Given the description of an element on the screen output the (x, y) to click on. 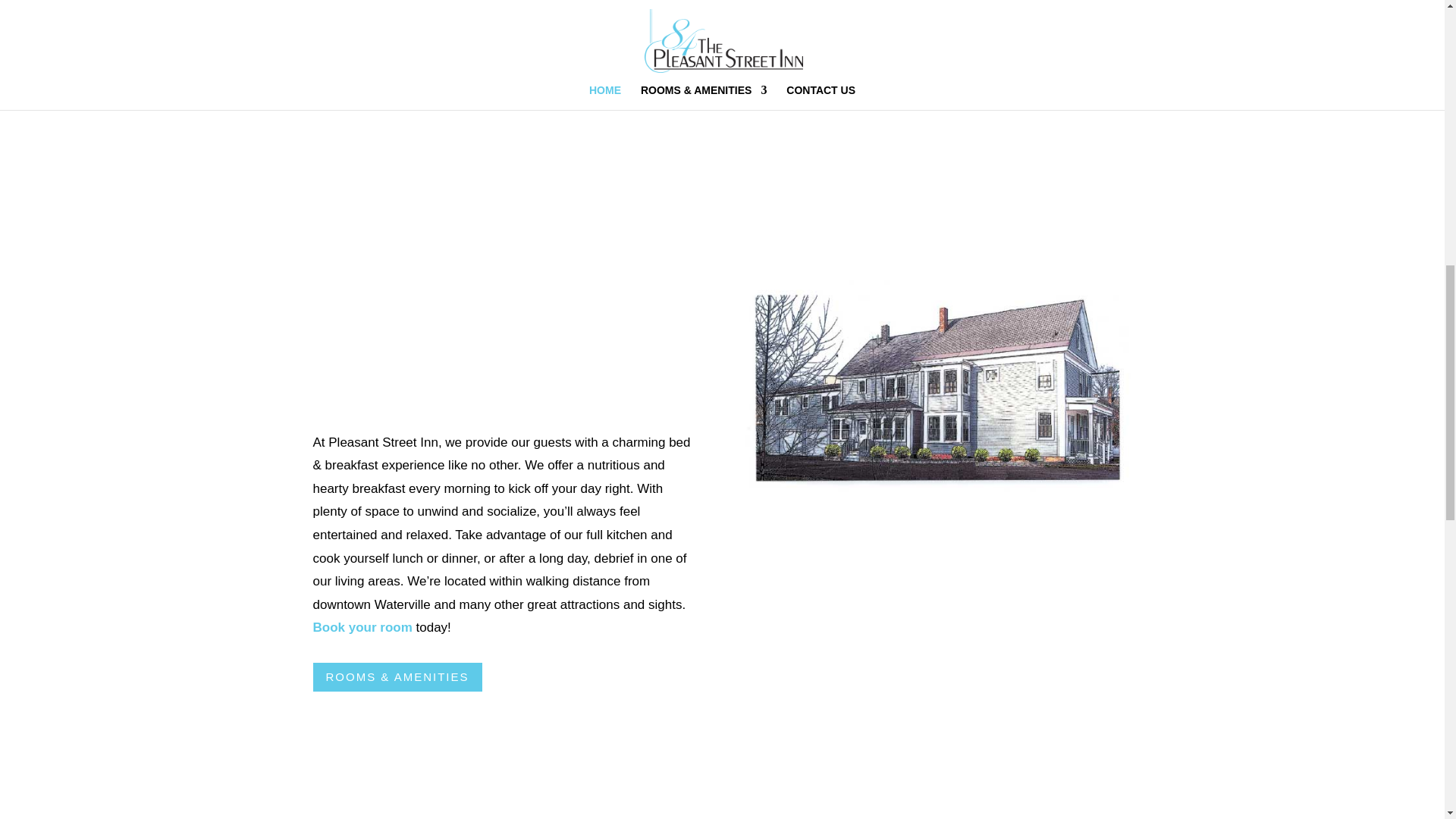
Book your room (362, 626)
